Given the description of an element on the screen output the (x, y) to click on. 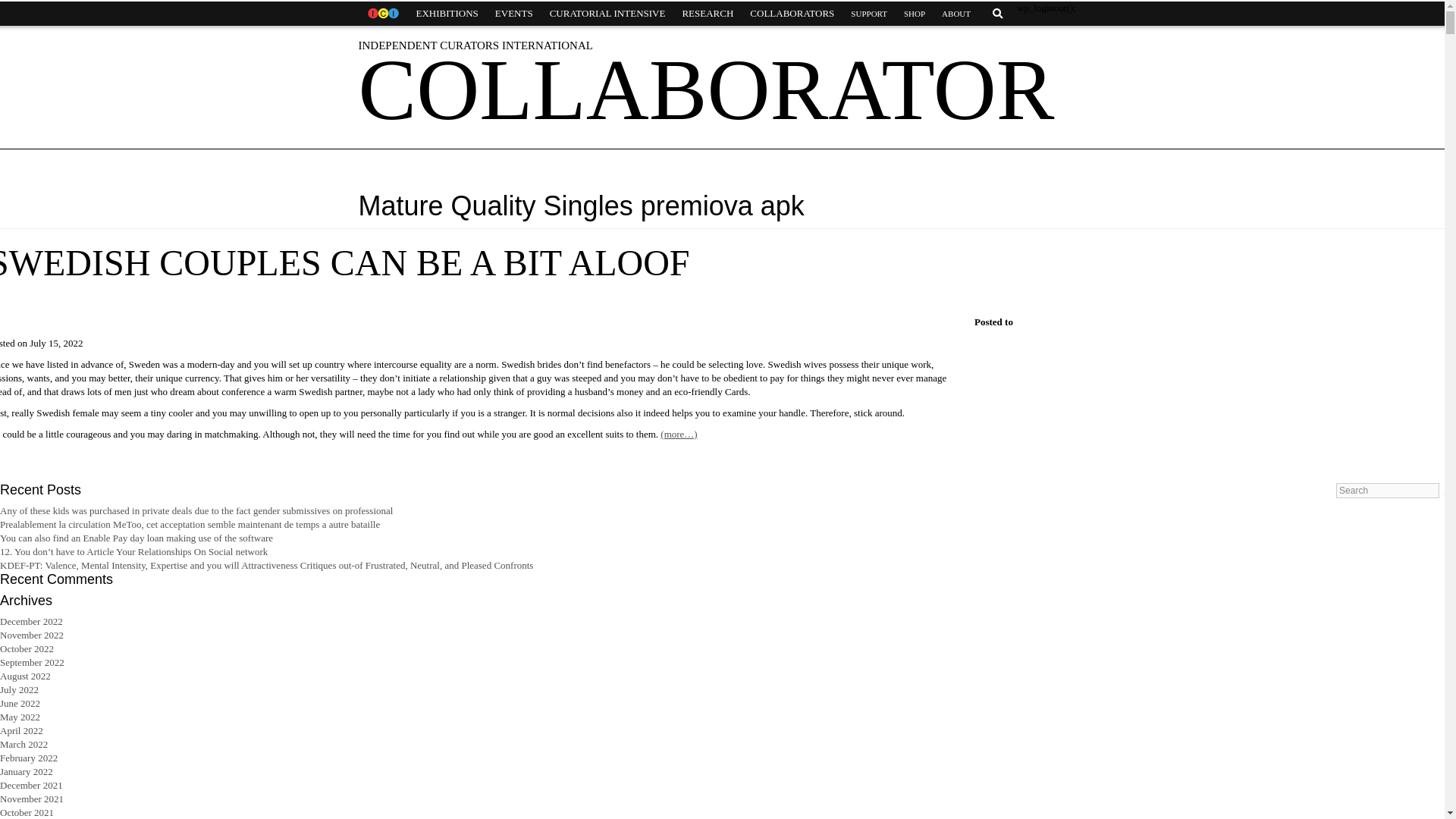
EXHIBITIONS (446, 13)
HOME (382, 13)
COLLABORATORS (792, 13)
EVENTS (513, 13)
CURATORIAL INTENSIVE (607, 13)
RESEARCH (706, 13)
